Given the description of an element on the screen output the (x, y) to click on. 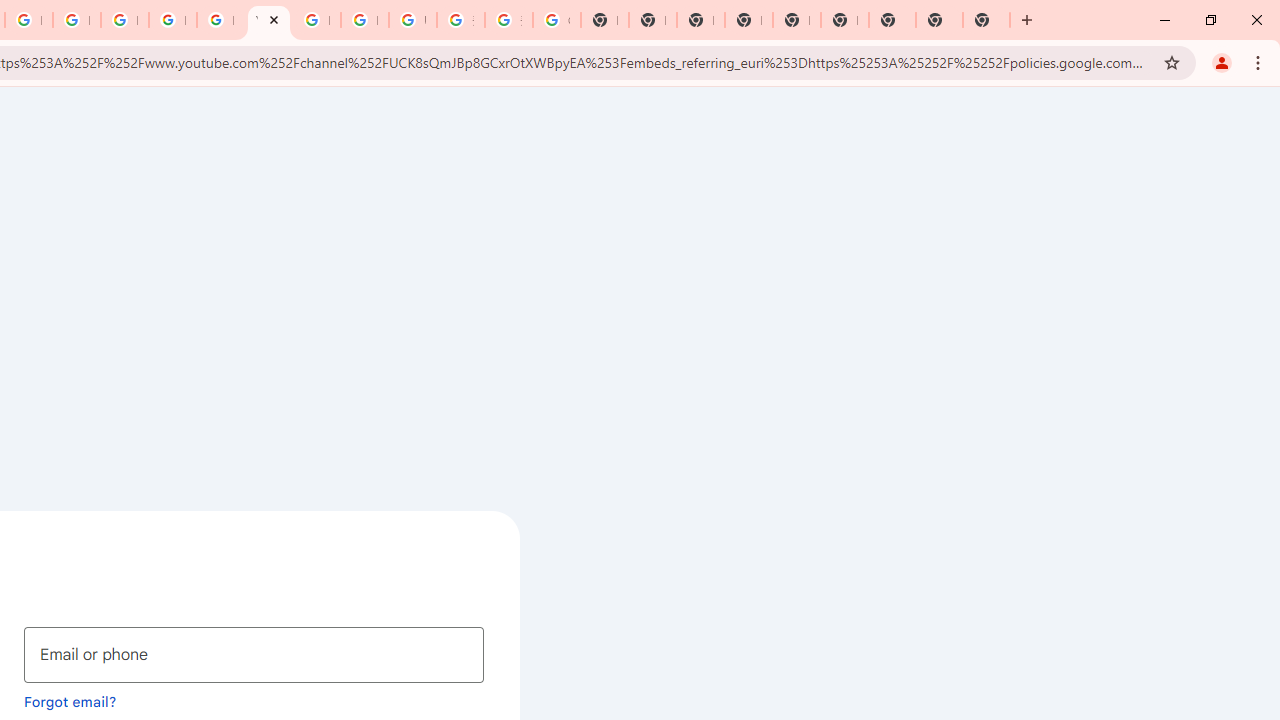
Email or phone (253, 654)
Google Images (556, 20)
Privacy Help Center - Policies Help (76, 20)
